Given the description of an element on the screen output the (x, y) to click on. 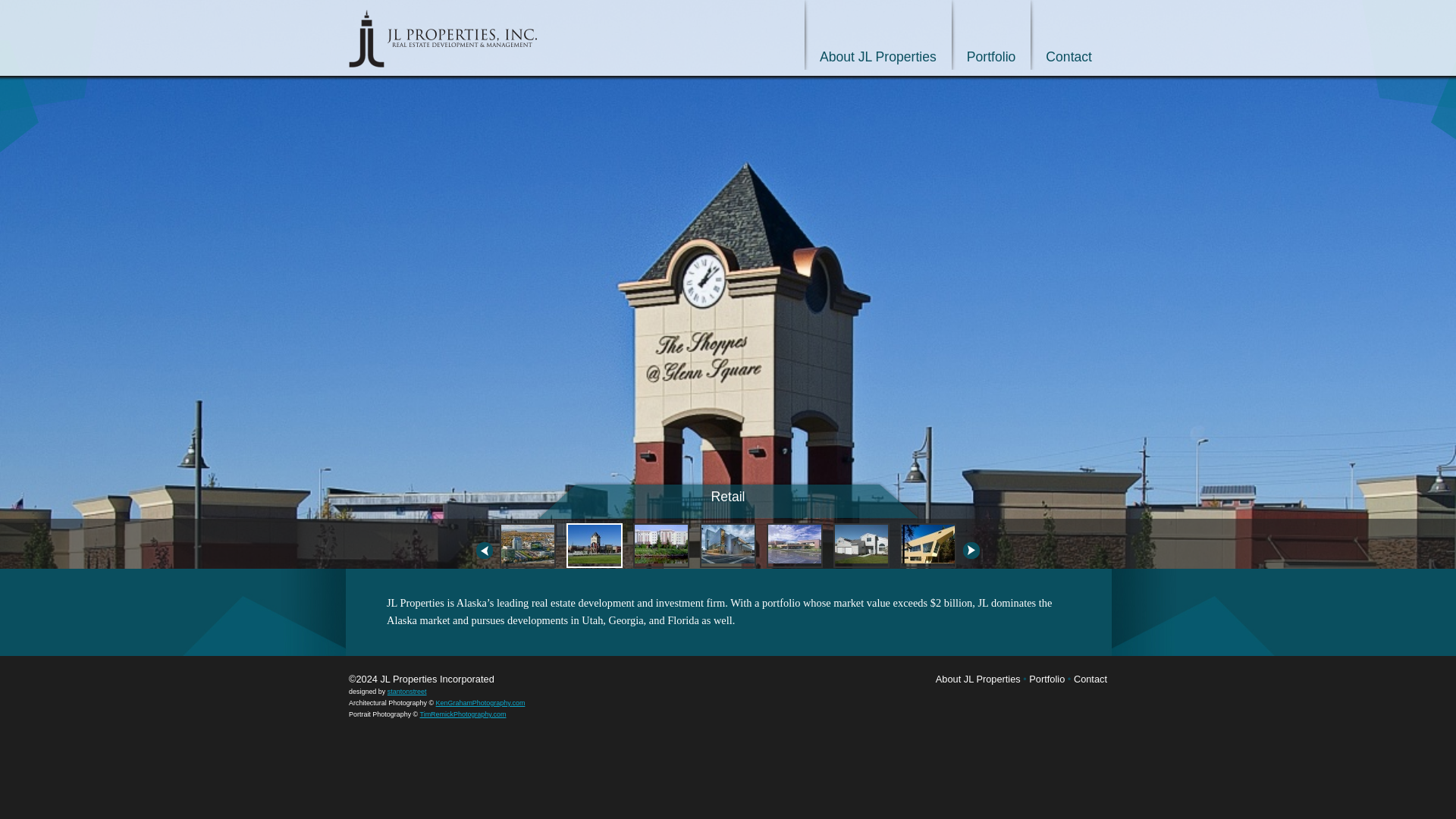
About JL Properties (978, 678)
Philanthropic Development: ANSEP (927, 545)
About JL Properties (978, 678)
Ken Graham Photography (480, 702)
About JL Properties (878, 34)
JL Properties (443, 38)
Retail: The Shops at O'Malley Center (594, 545)
Tim Remick Photography (463, 714)
Commercial Office: JL Tower (527, 545)
Business Park: Anchorage Municipal Permit Center (794, 545)
TimRemickPhotography.com (463, 714)
Contact (1068, 34)
Multi-Family Housing (860, 545)
next (970, 550)
Next (970, 550)
